Given the description of an element on the screen output the (x, y) to click on. 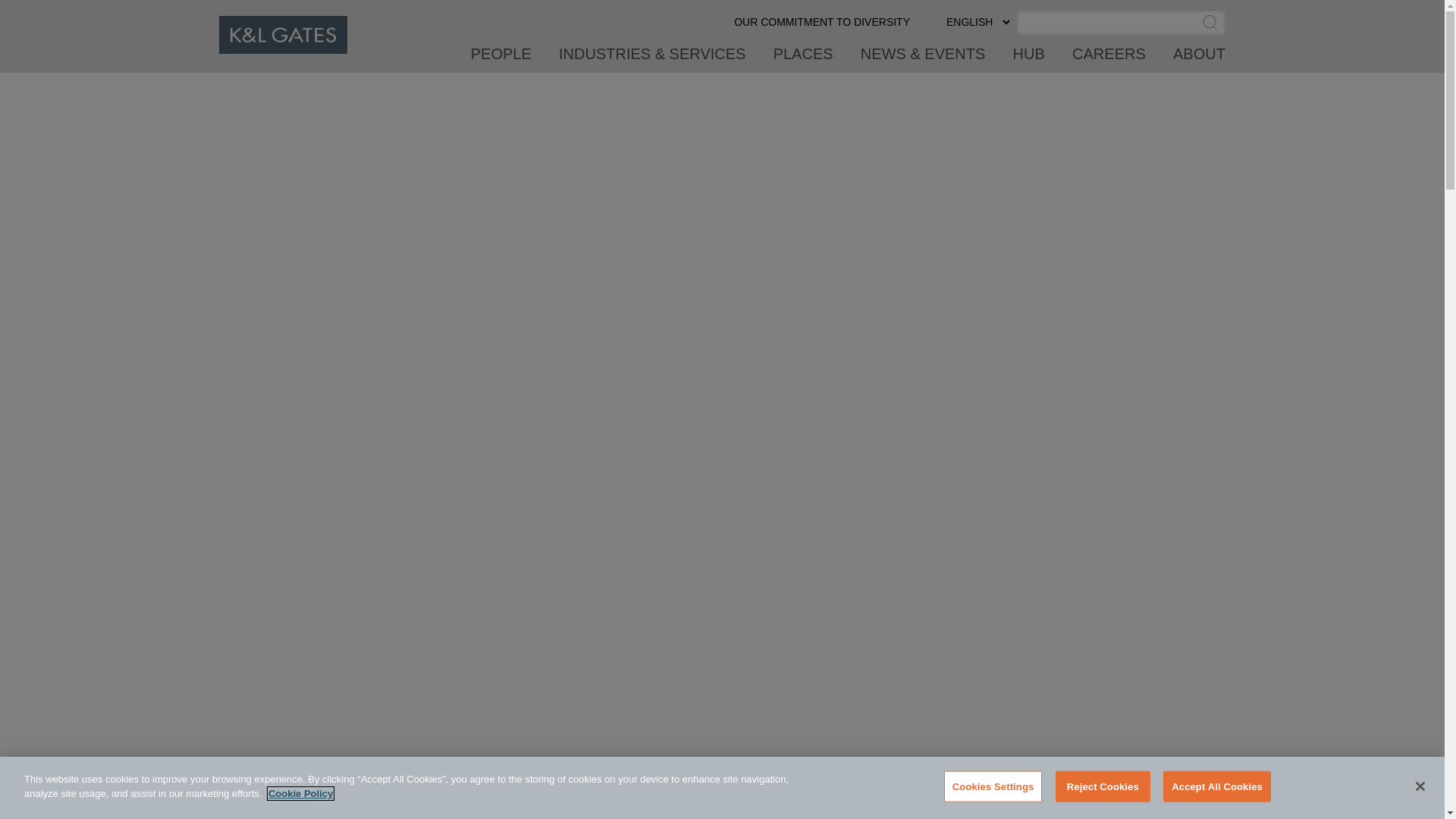
Cookies Settings Element type: text (993, 787)
PLACES Element type: text (803, 58)
Reject Cookies Element type: text (1102, 787)
HUB Element type: text (1028, 58)
INDUSTRIES & SERVICES Element type: text (651, 58)
Cookie Policy Element type: text (300, 793)
OUR COMMITMENT TO DIVERSITY Element type: text (822, 27)
K&L Gates Experience Element type: text (722, 433)
ABOUT Element type: text (1199, 58)
CAREERS Element type: text (1108, 58)
Accept All Cookies Element type: text (1216, 787)
Submit Site Search Element type: text (1209, 24)
PEOPLE Element type: text (500, 58)
NEWS & EVENTS Element type: text (922, 58)
